Given the description of an element on the screen output the (x, y) to click on. 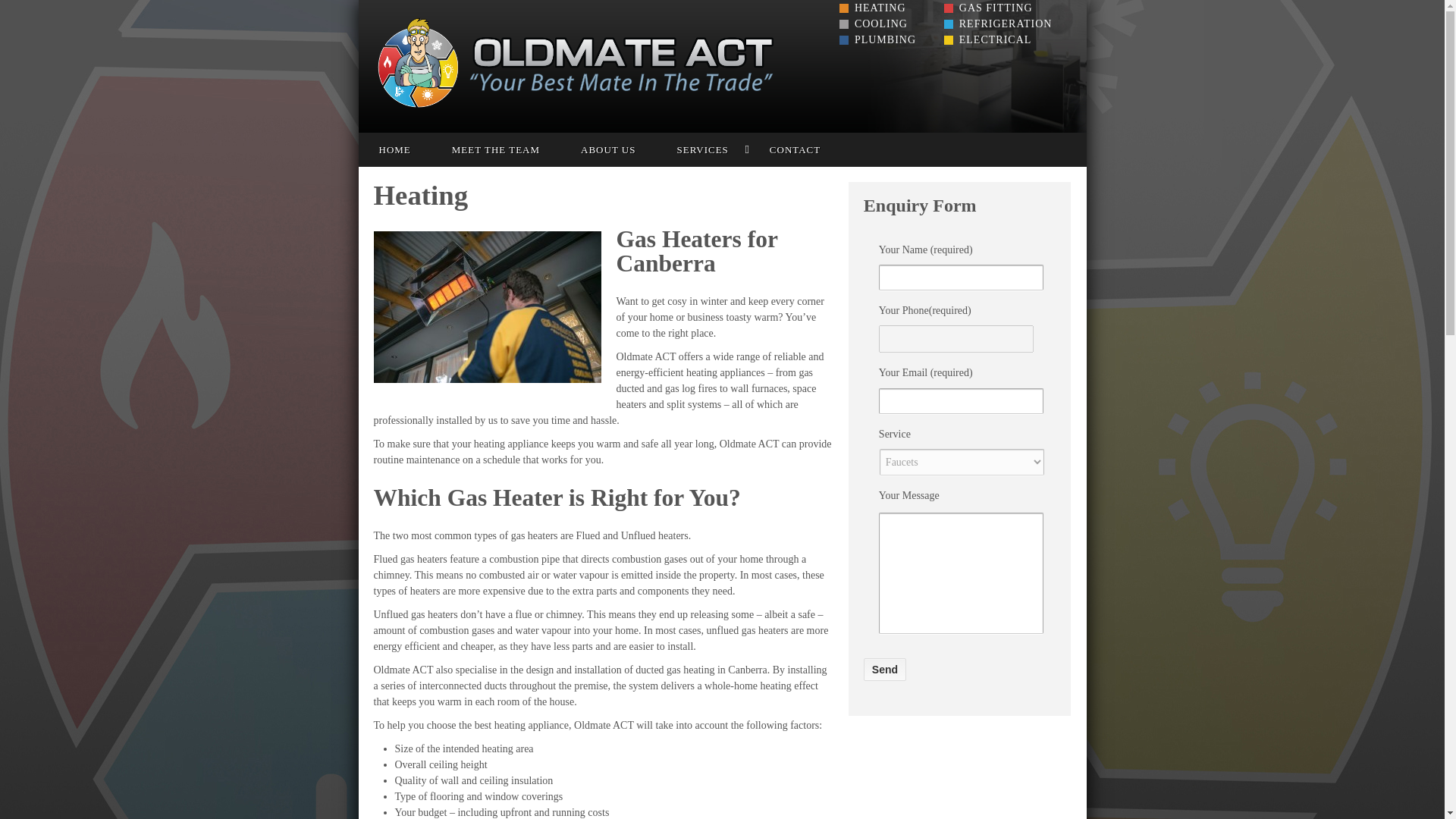
SERVICES (702, 149)
HEATING (872, 7)
GAS FITTING (987, 7)
COOLING (873, 23)
CONTACT (795, 149)
ABOUT US (607, 149)
Gas Sapce Heaters  (485, 306)
ELECTRICAL (987, 39)
PLUMBING (877, 39)
REFRIGERATION (997, 23)
